Given the description of an element on the screen output the (x, y) to click on. 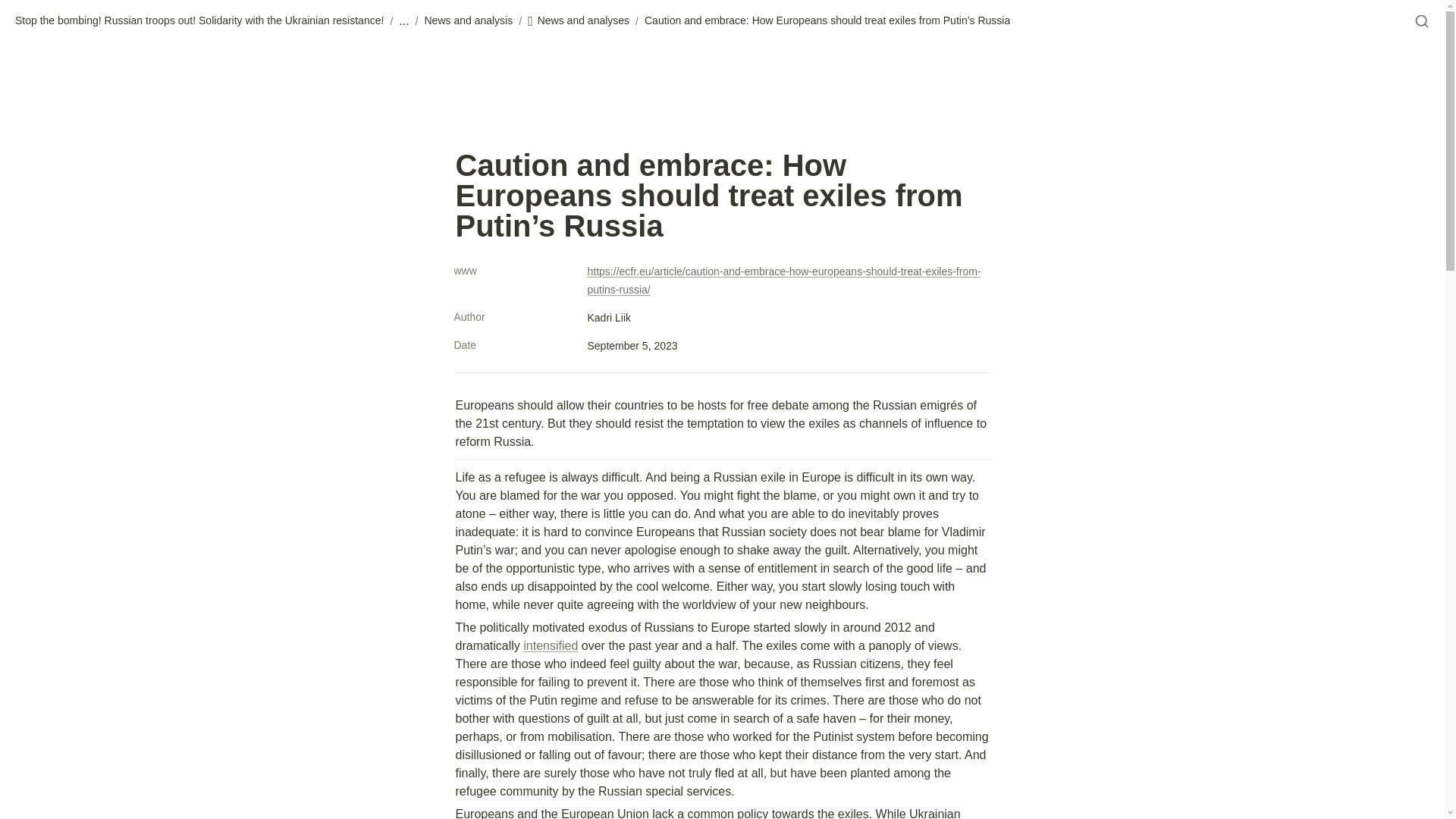
intensified (550, 645)
News and analysis (469, 21)
